Given the description of an element on the screen output the (x, y) to click on. 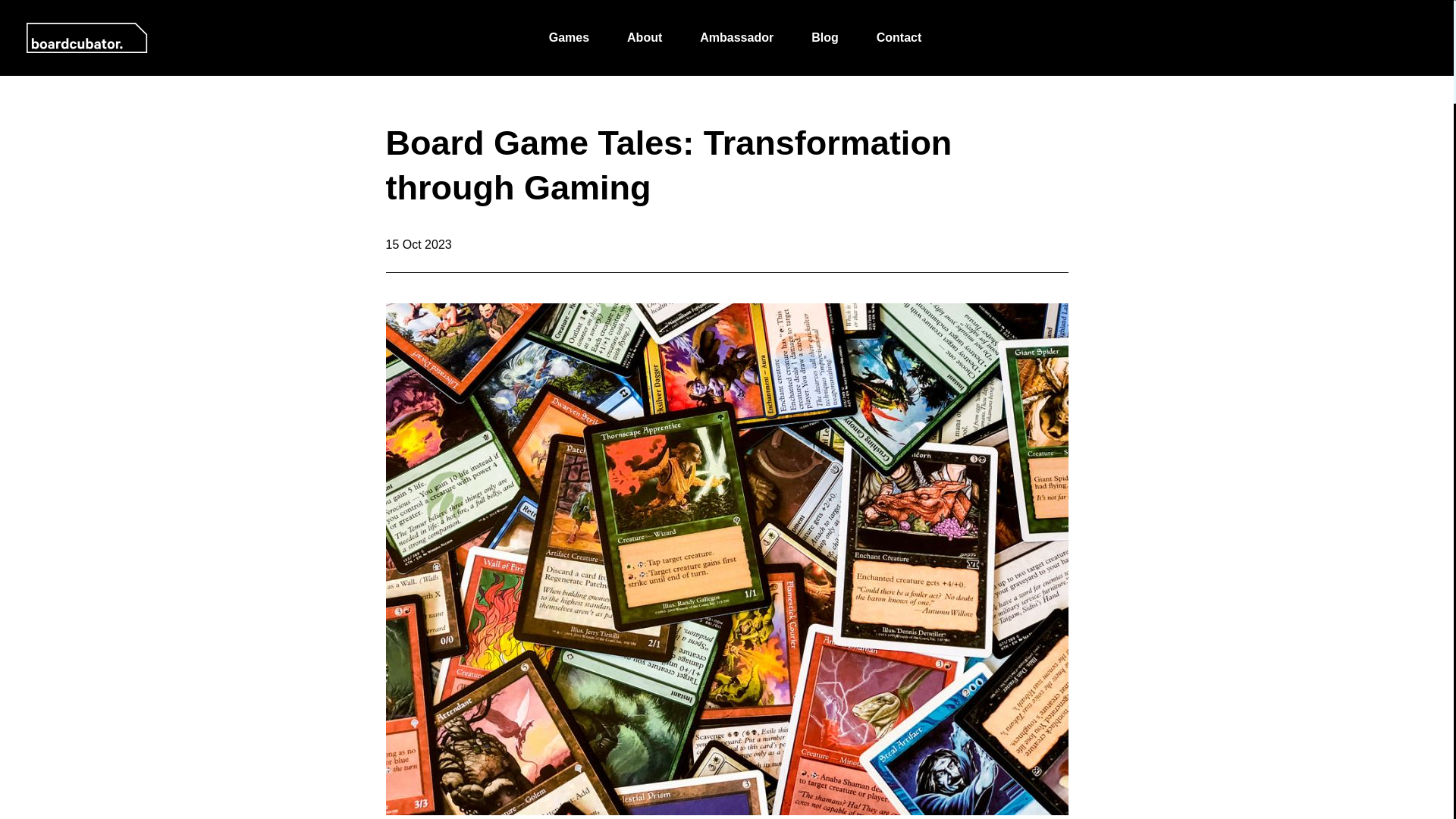
Boardcubator (87, 37)
About (644, 37)
Ambassador (736, 37)
Games (568, 37)
Contact (898, 37)
Blog (824, 37)
